Given the description of an element on the screen output the (x, y) to click on. 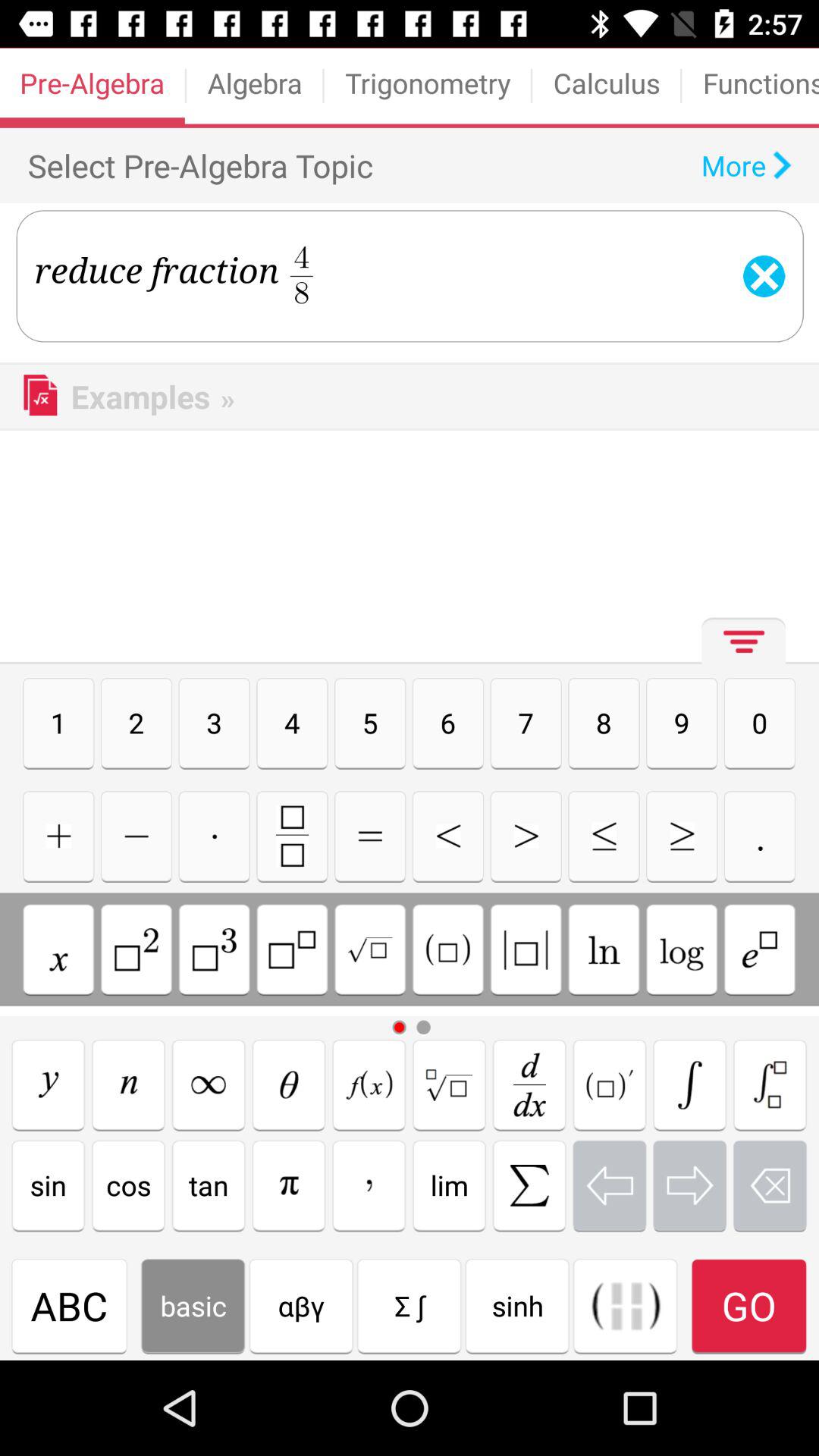
maths user option (136, 949)
